Given the description of an element on the screen output the (x, y) to click on. 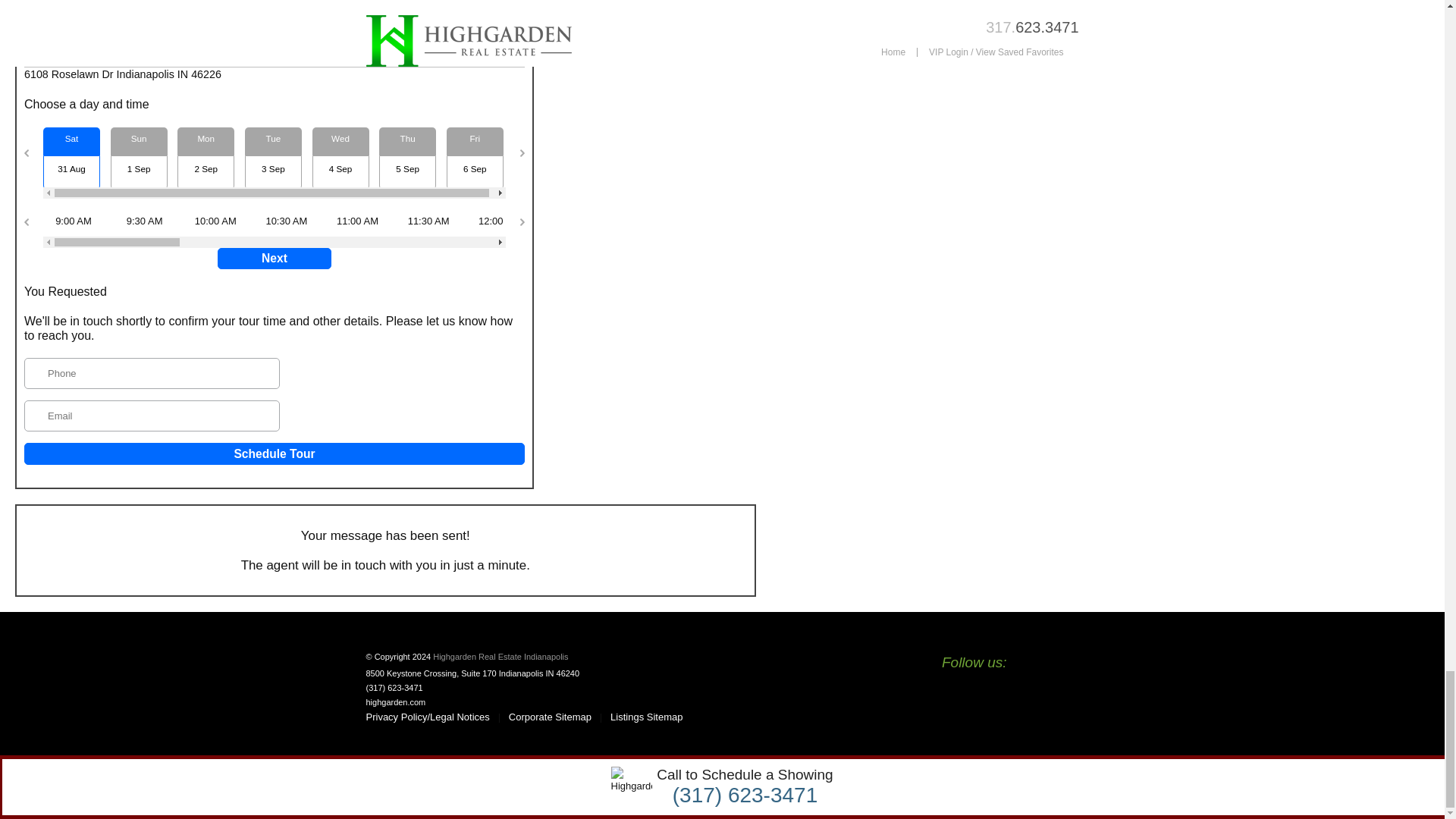
Next (273, 258)
